Given the description of an element on the screen output the (x, y) to click on. 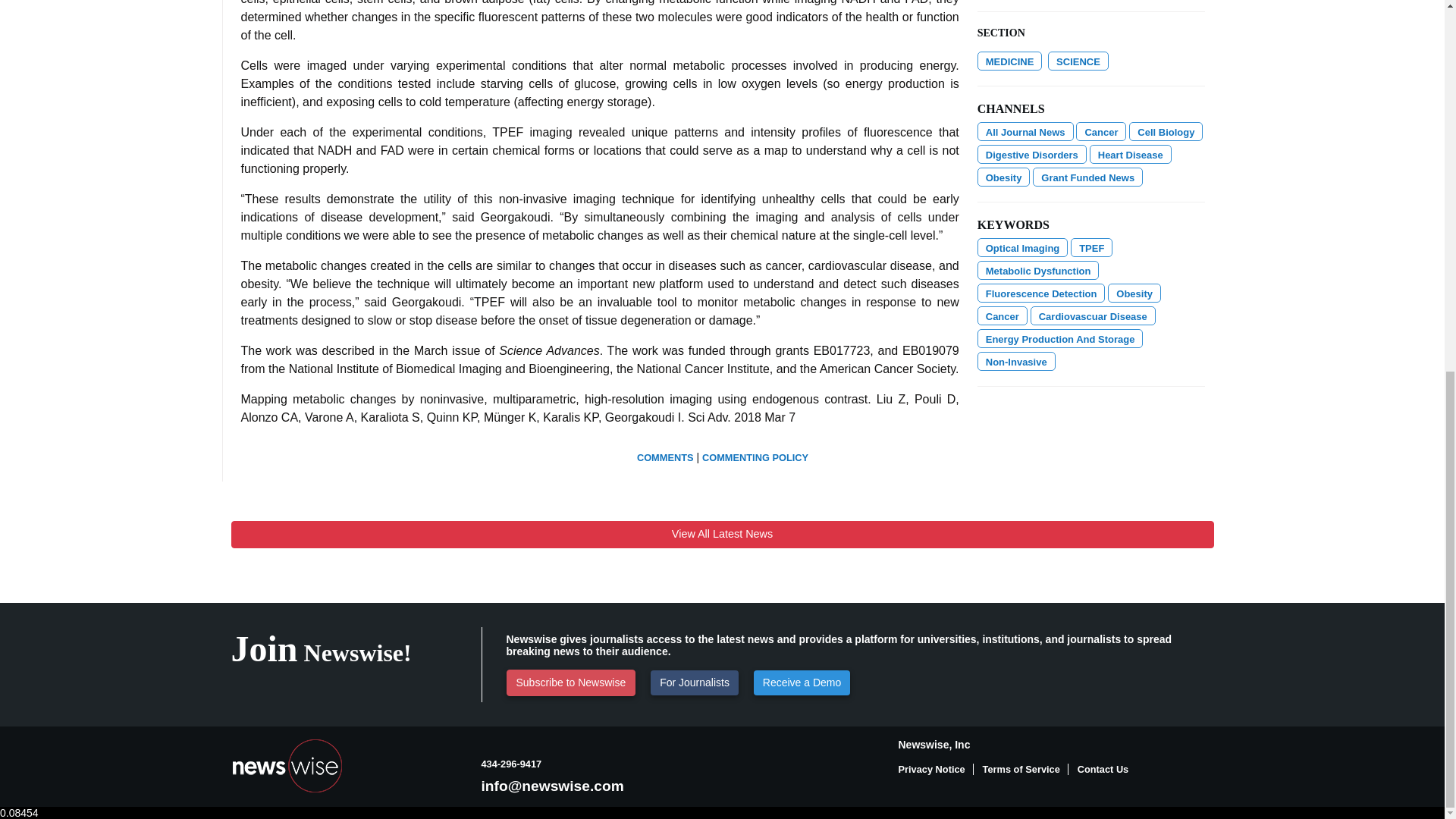
Show all articles in this channel (1100, 131)
Show all articles in this channel (1025, 131)
Show all articles in this channel (1009, 60)
Show all articles in this channel (1078, 60)
